Given the description of an element on the screen output the (x, y) to click on. 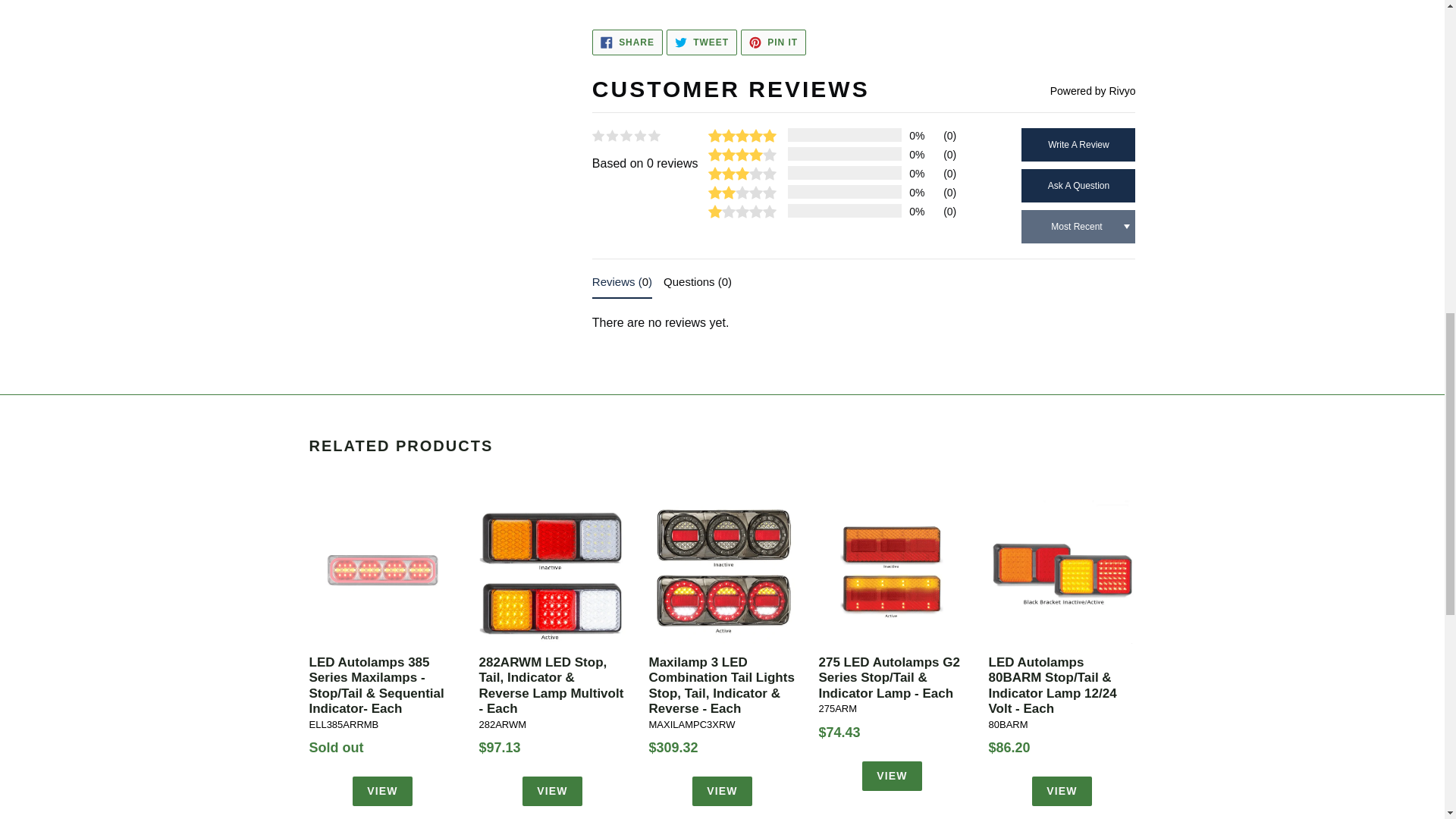
View (551, 790)
View (891, 776)
View (382, 790)
View (722, 790)
View (1061, 790)
